Given the description of an element on the screen output the (x, y) to click on. 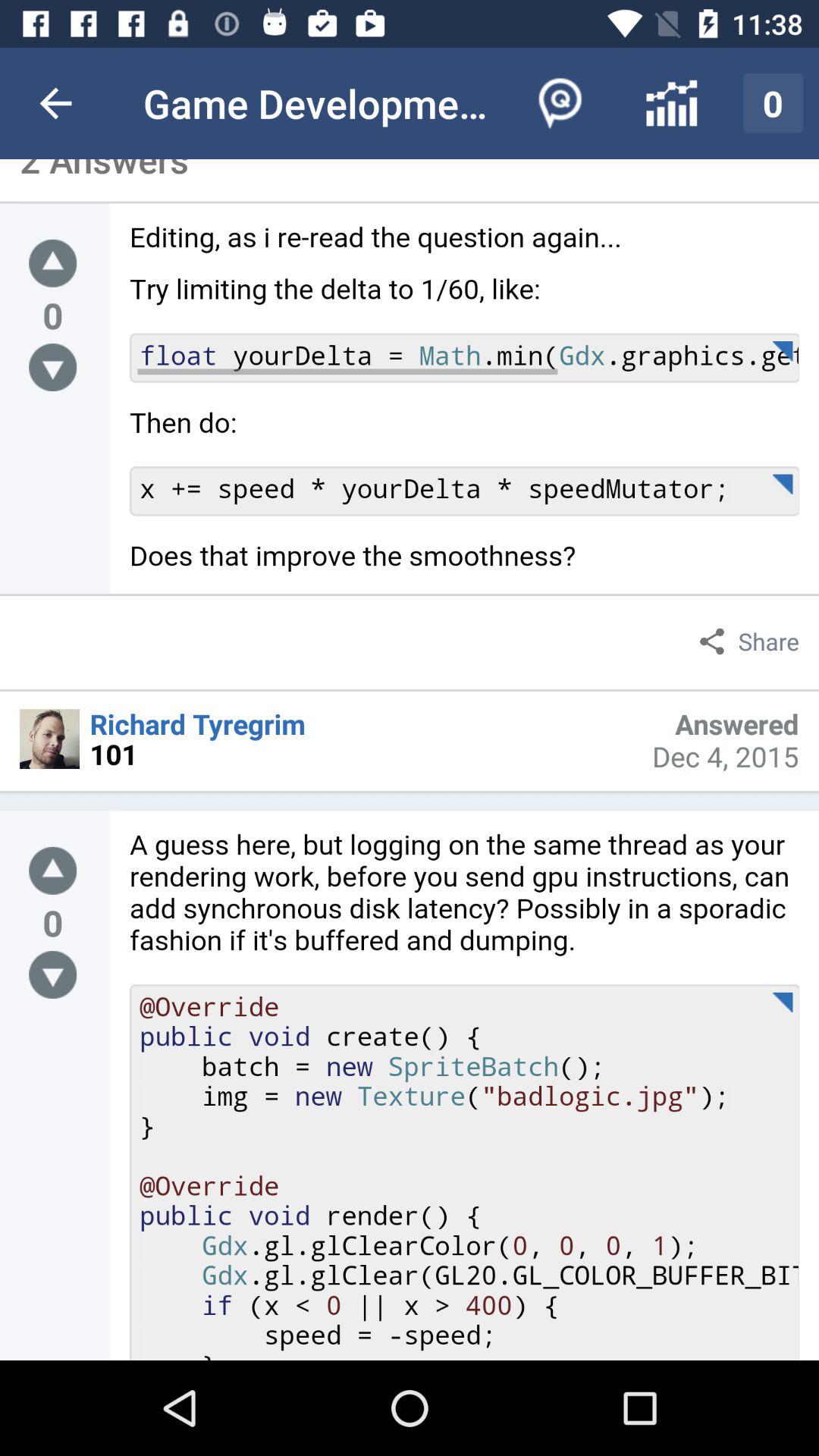
up and town button (52, 870)
